Given the description of an element on the screen output the (x, y) to click on. 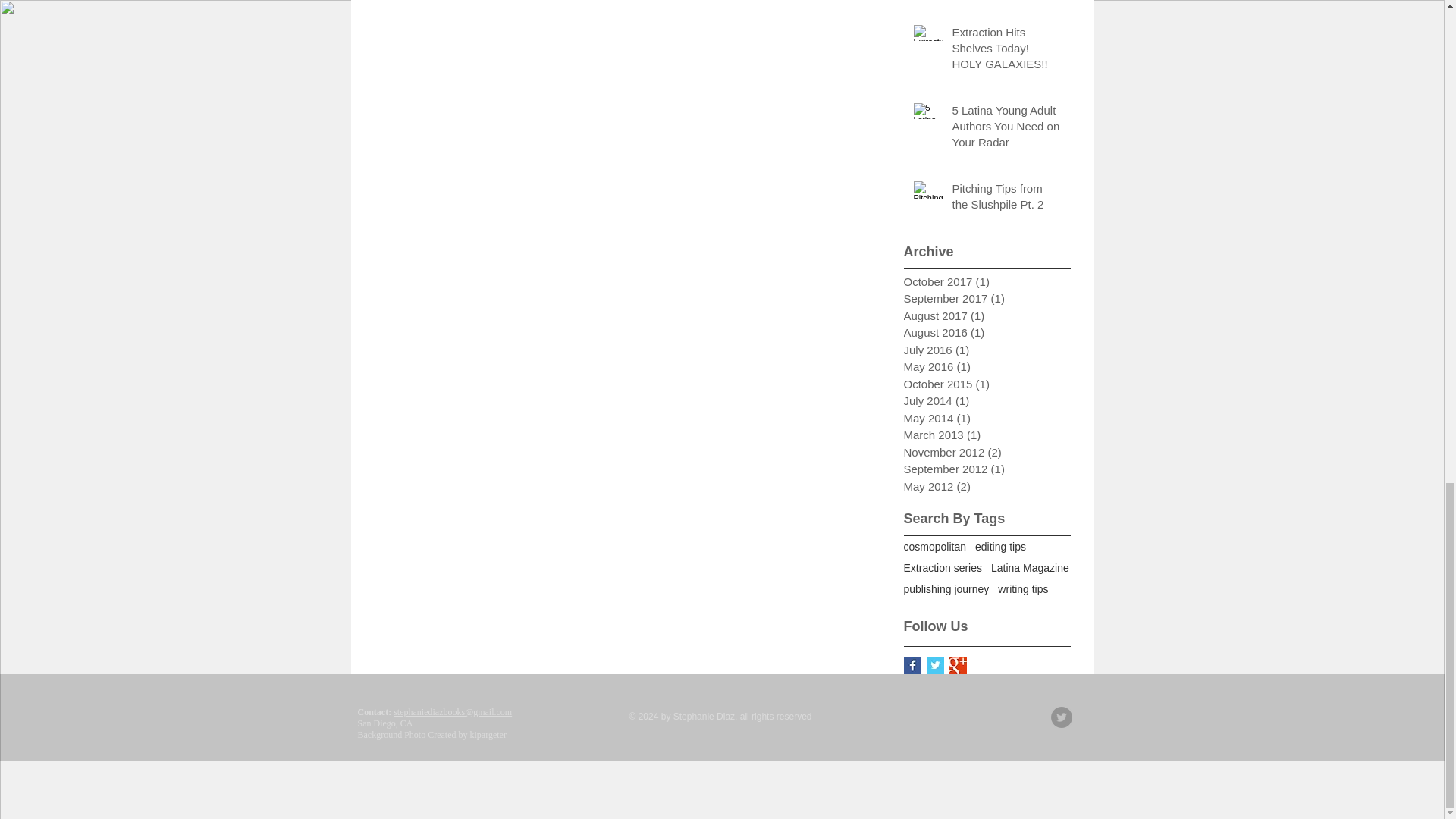
Pitching Tips from the Slushpile Pt. 2 (1006, 199)
Extraction Hits Shelves Today! HOLY GALAXIES!! (1006, 50)
5 Latina Young Adult Authors You Need on Your Radar (1006, 128)
